Given the description of an element on the screen output the (x, y) to click on. 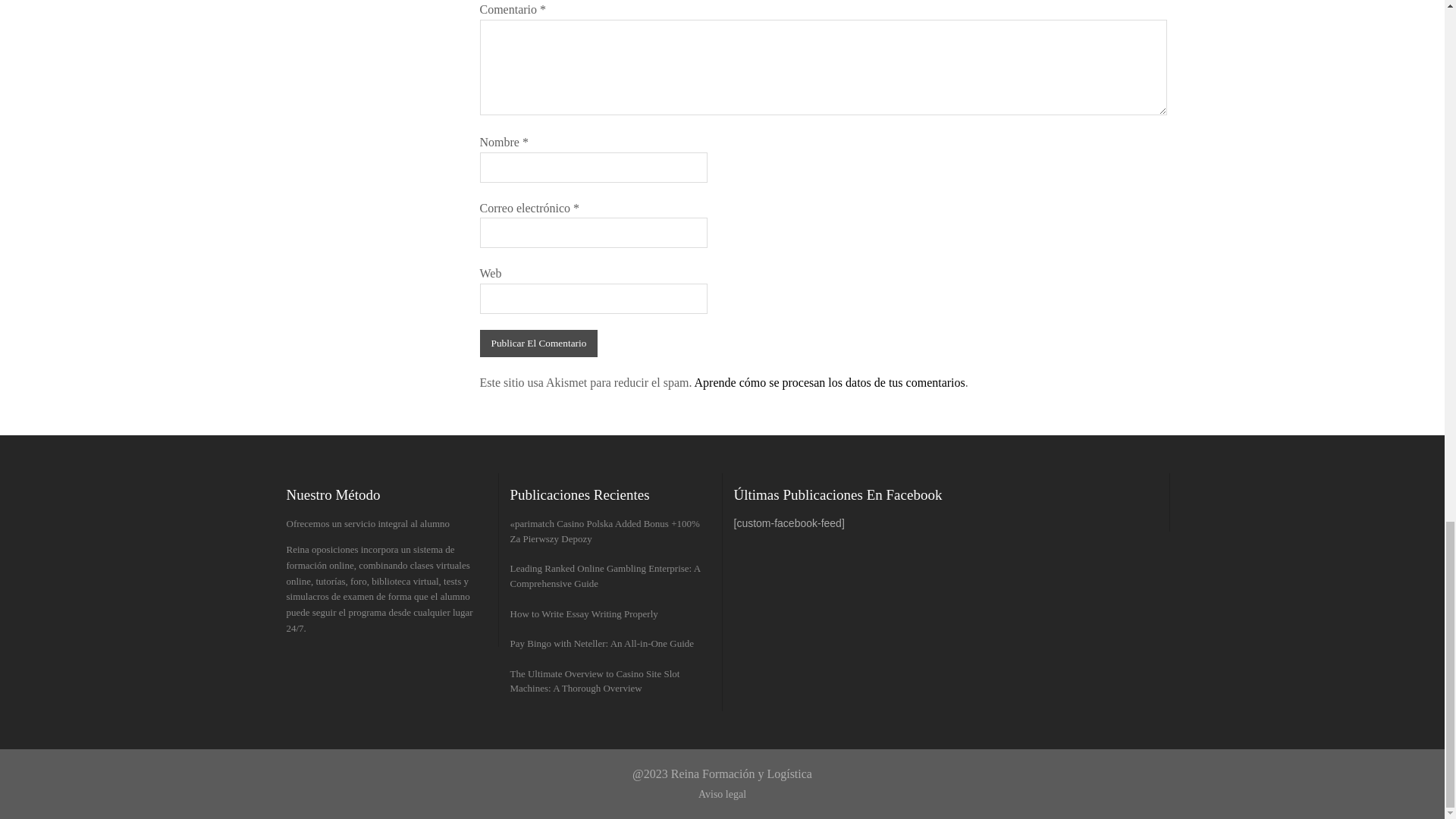
Publicar el comentario (537, 343)
